Given the description of an element on the screen output the (x, y) to click on. 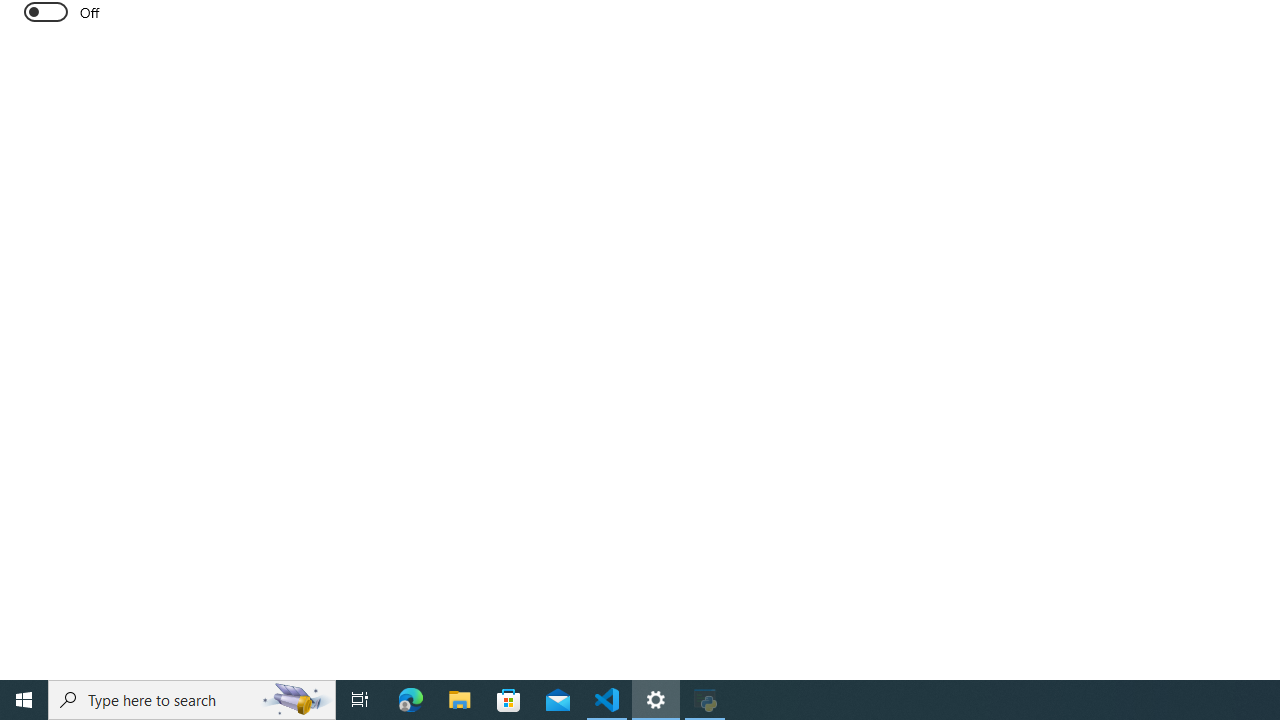
Settings - 1 running window (656, 699)
